Given the description of an element on the screen output the (x, y) to click on. 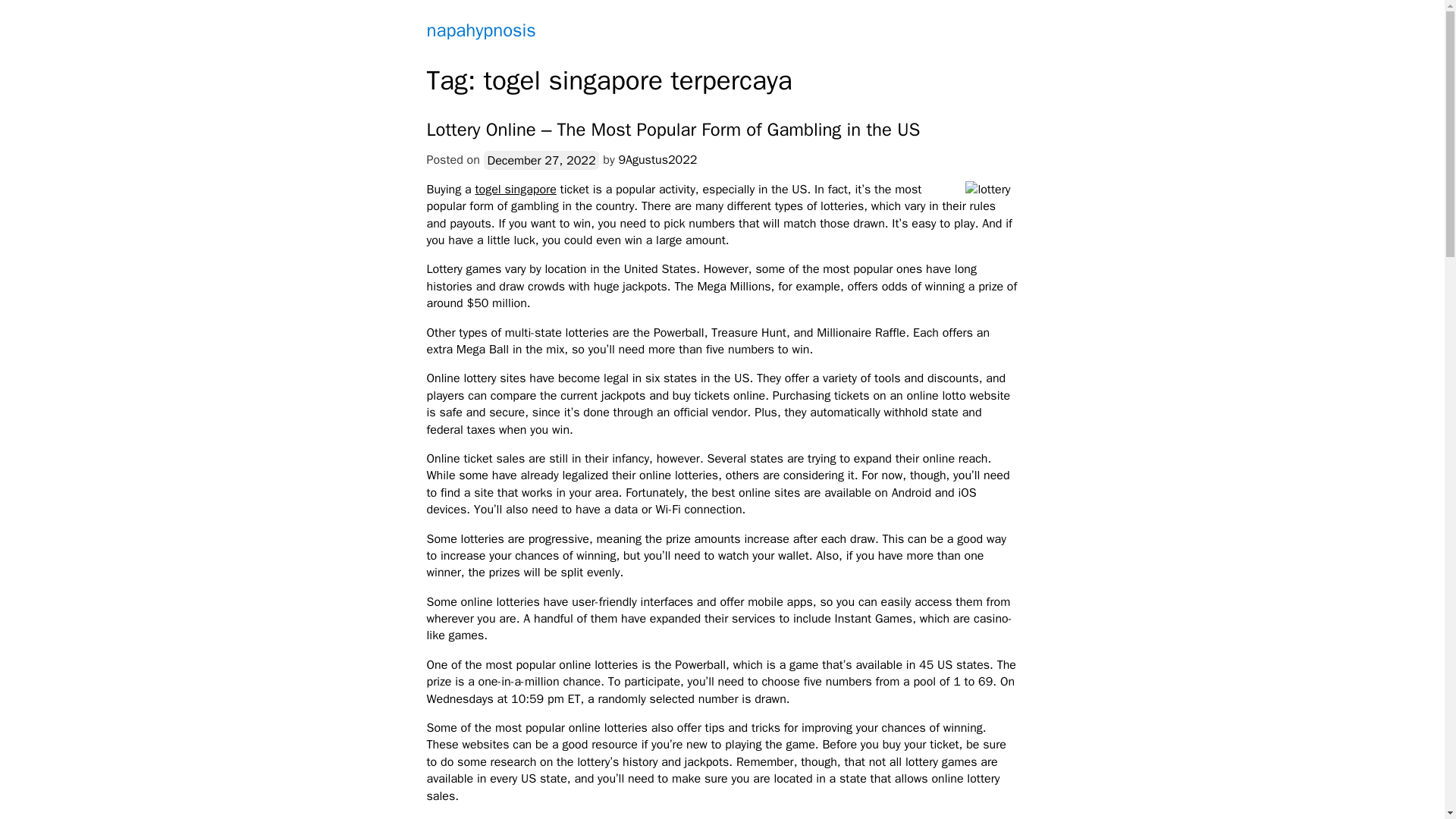
napahypnosis (480, 29)
December 27, 2022 (541, 159)
togel singapore (515, 189)
